Given the description of an element on the screen output the (x, y) to click on. 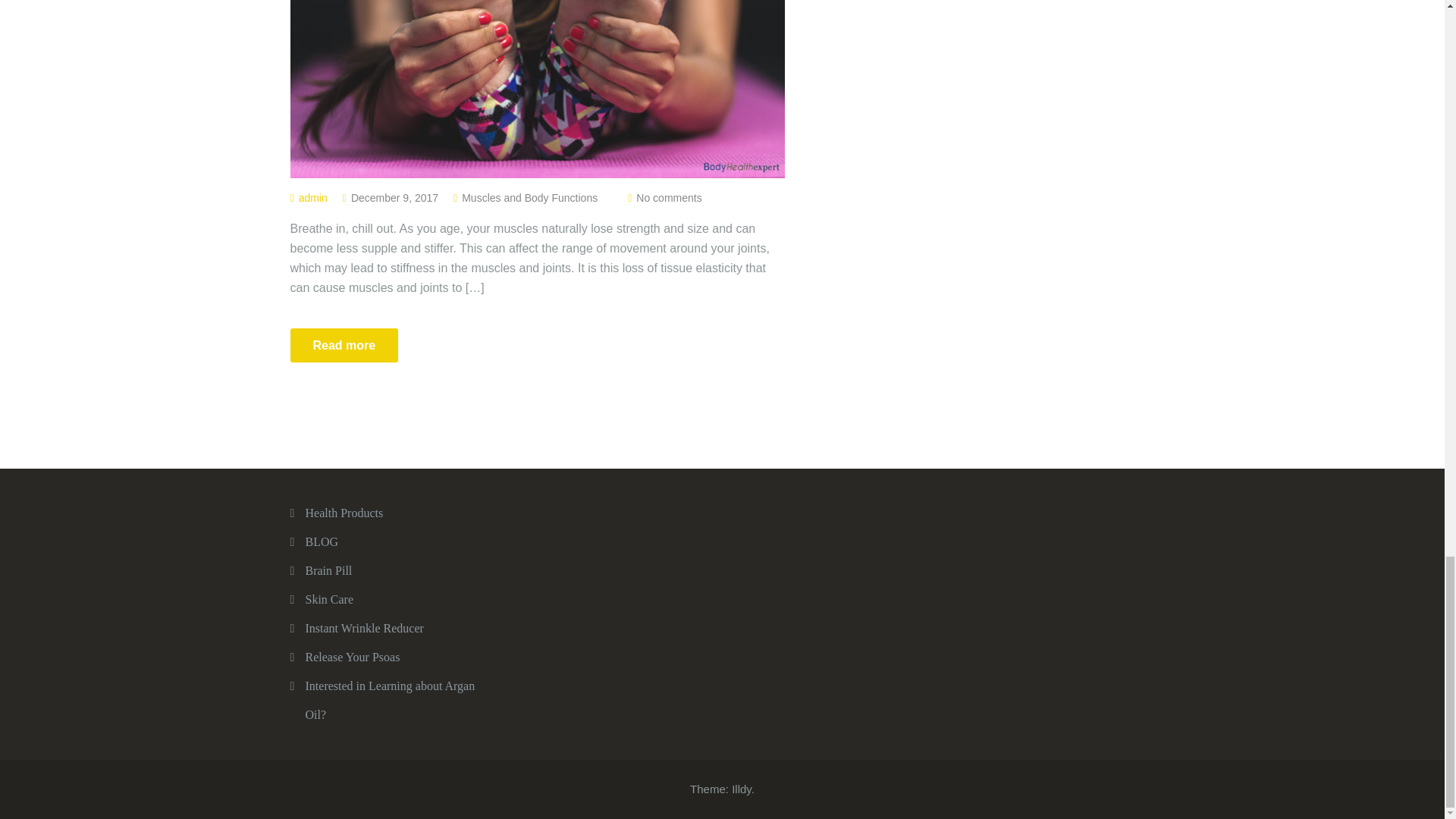
Muscles and Body Functions (528, 197)
Read more (343, 345)
Read more (343, 345)
Illdy (741, 788)
